Given the description of an element on the screen output the (x, y) to click on. 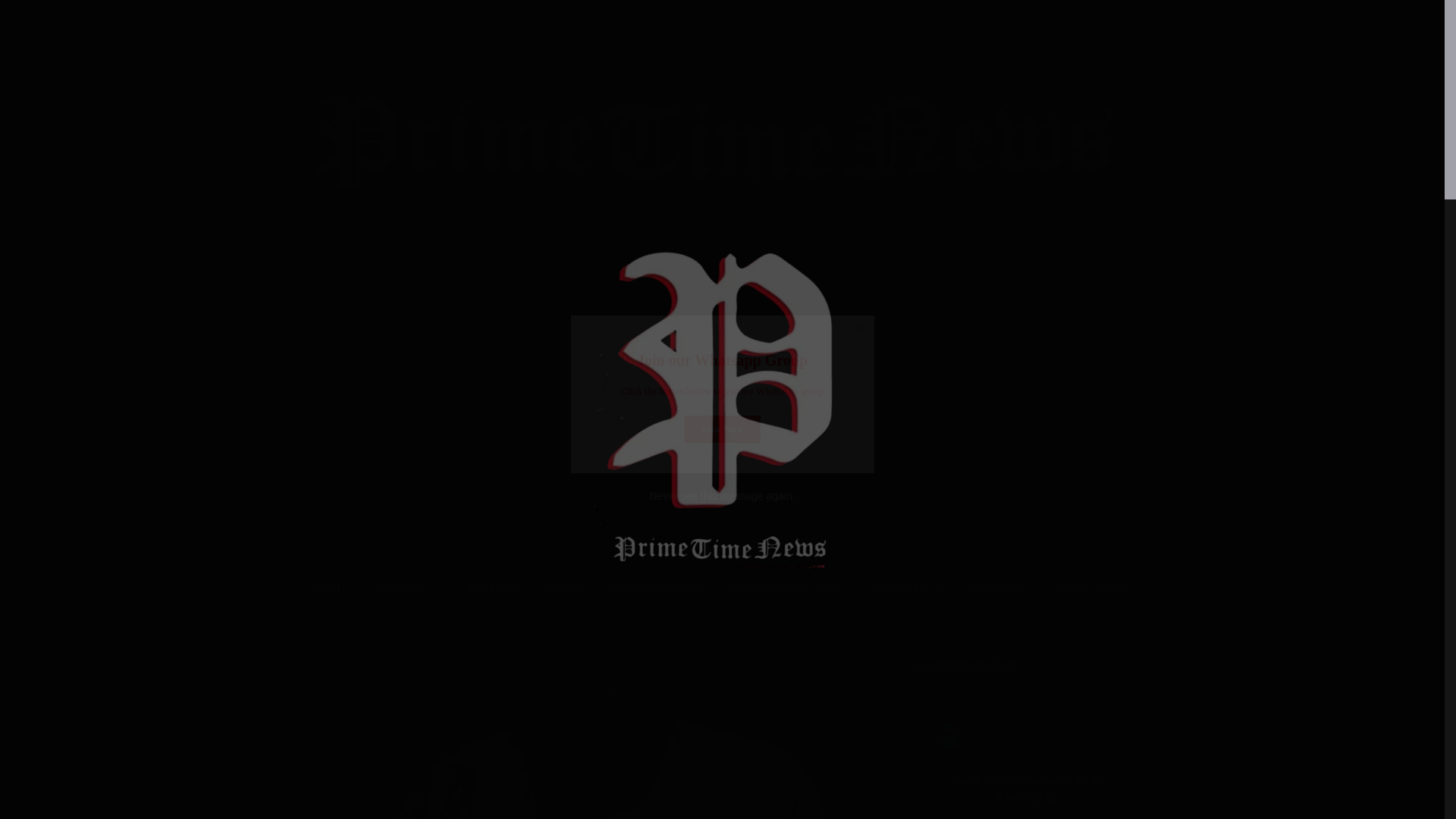
WEATHER (996, 589)
POLITICS (493, 589)
HOME (330, 589)
SPORTS (564, 589)
INVESTIGATION DESK (785, 589)
LIFESTYLE (897, 589)
TOP NEWS (400, 589)
ENTERTAINMENT (655, 589)
POLICY RADAR (1088, 589)
